Given the description of an element on the screen output the (x, y) to click on. 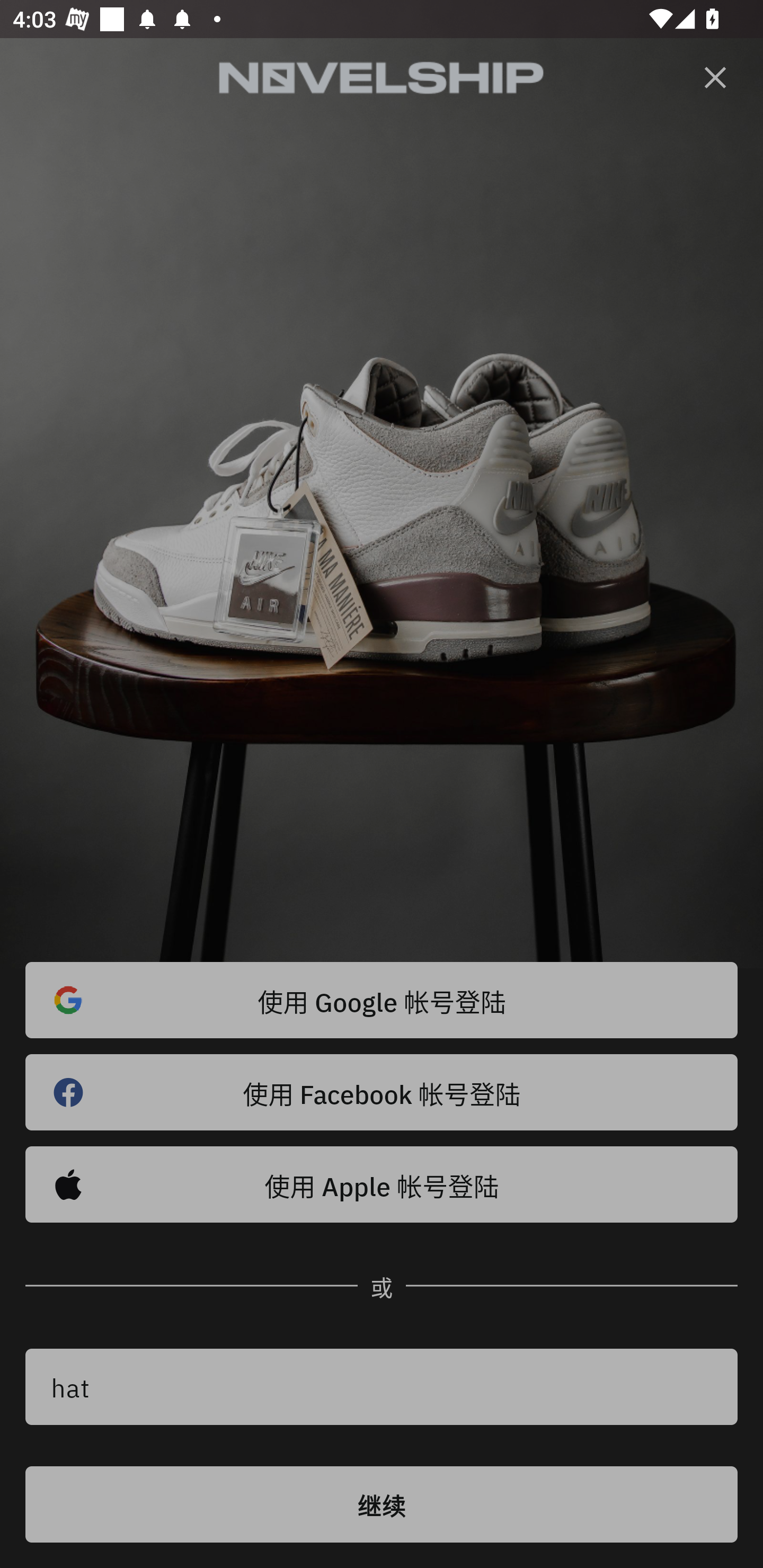
使用 Google 帐号登陆 (381, 1000)
使用 Facebook 帐号登陆 󰈌 (381, 1091)
 使用 Apple 帐号登陆 (381, 1184)
hat (381, 1386)
继续 (381, 1504)
